Given the description of an element on the screen output the (x, y) to click on. 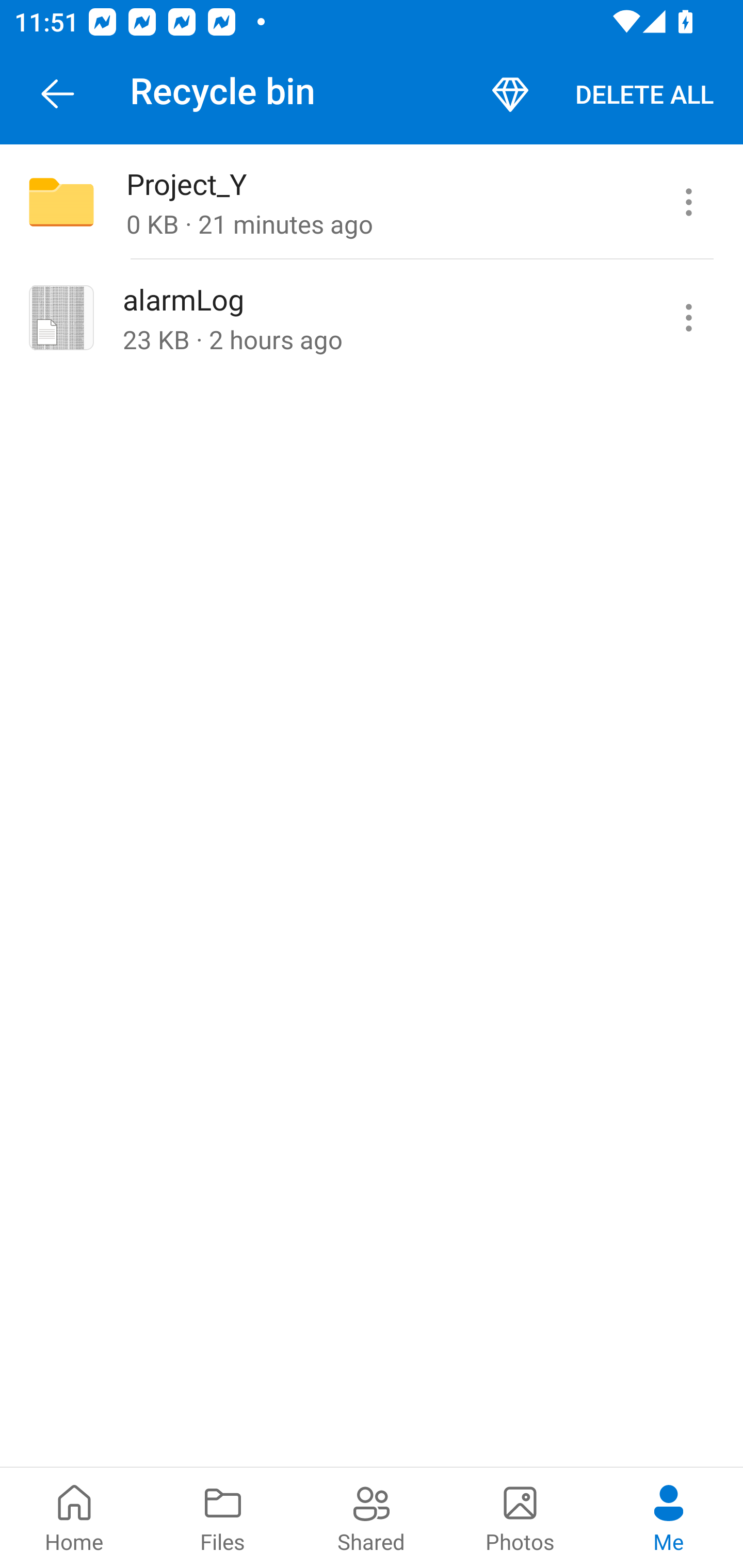
Navigate Up (57, 93)
Premium button (509, 93)
DELETE ALL Delete all button (644, 93)
Project_Y commands (688, 202)
alarmLog commands (688, 317)
Home pivot Home (74, 1517)
Files pivot Files (222, 1517)
Shared pivot Shared (371, 1517)
Photos pivot Photos (519, 1517)
